Given the description of an element on the screen output the (x, y) to click on. 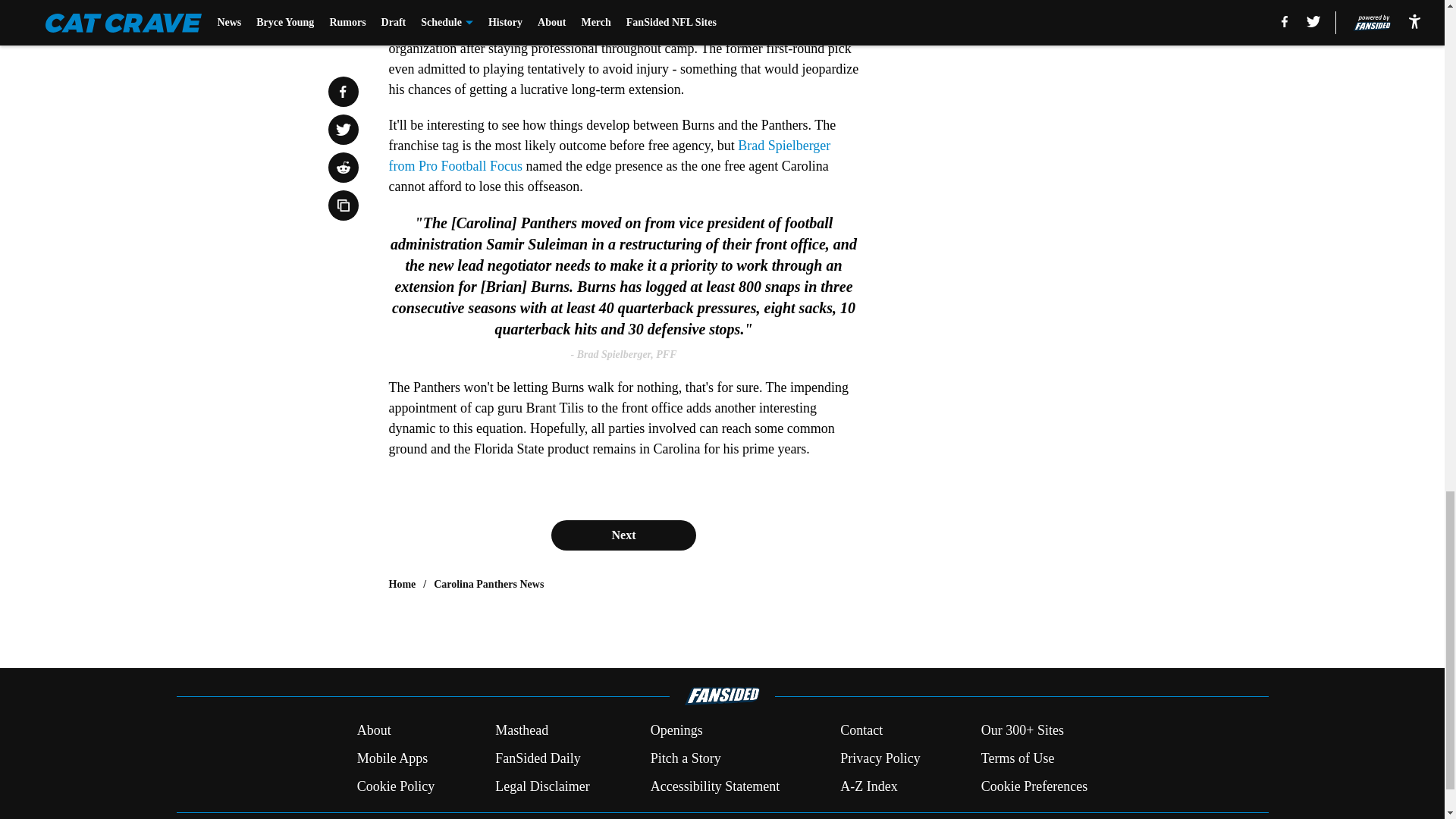
Brad Spielberger from Pro Football Focus (608, 155)
Masthead (521, 730)
About (373, 730)
Carolina Panthers News (488, 584)
Terms of Use (1017, 758)
Home (401, 584)
Pitch a Story (685, 758)
FanSided Daily (537, 758)
Mobile Apps (392, 758)
Privacy Policy (880, 758)
Next (622, 535)
Openings (676, 730)
Contact (861, 730)
